Given the description of an element on the screen output the (x, y) to click on. 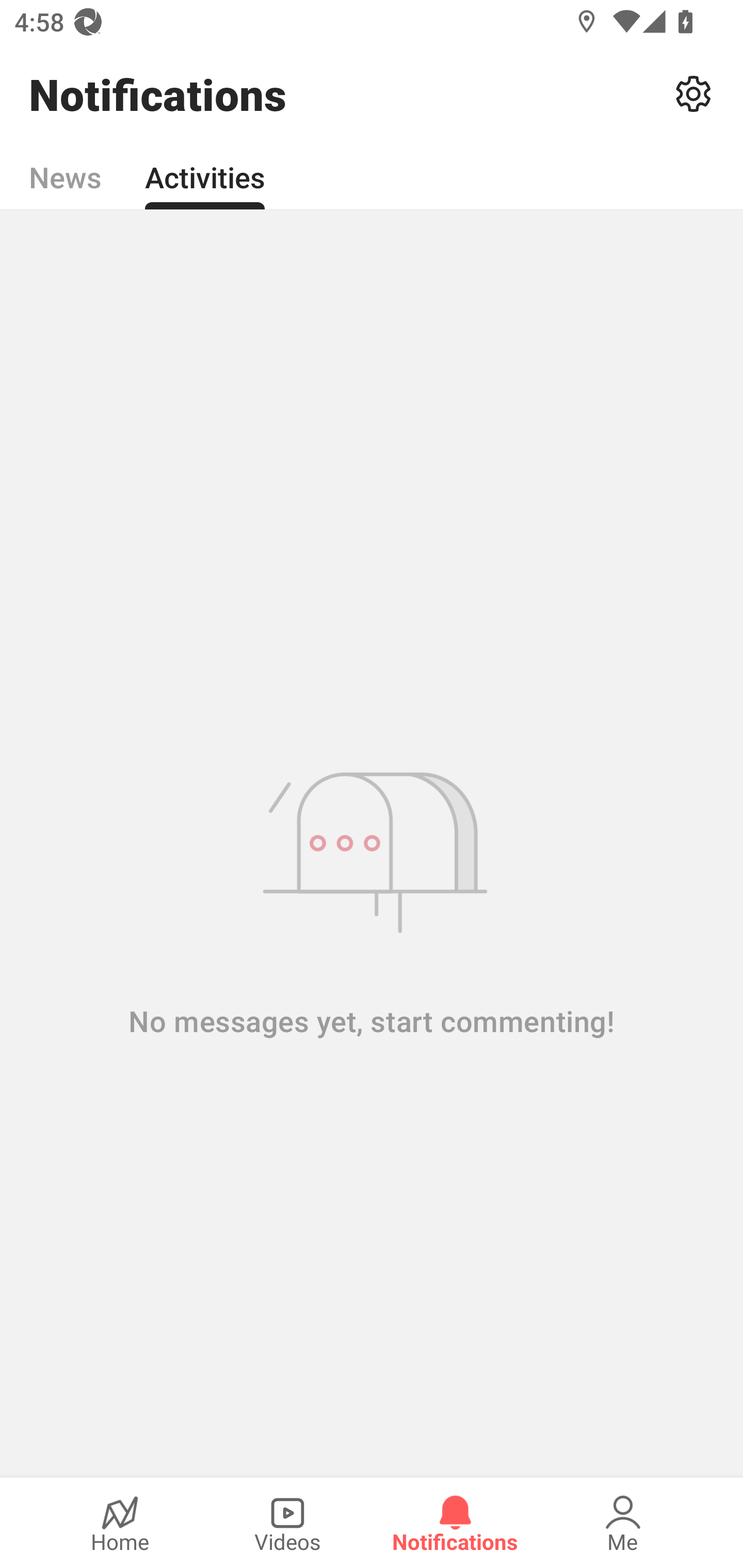
News (65, 166)
Home (119, 1522)
Videos (287, 1522)
Me (622, 1522)
